Given the description of an element on the screen output the (x, y) to click on. 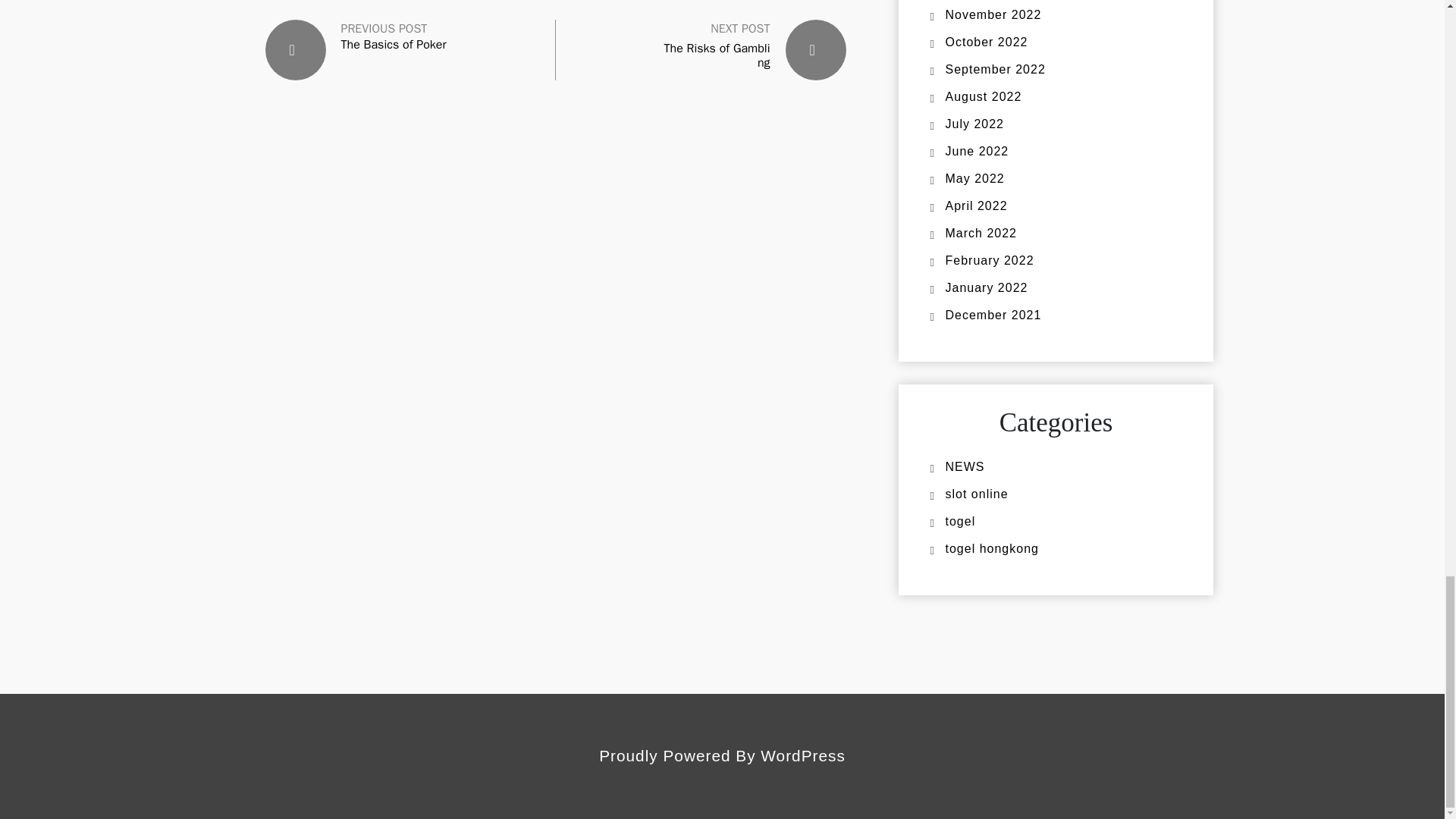
The Risks of Gambling (716, 55)
NEXT POST (740, 28)
PREVIOUS POST (384, 28)
The Basics of Poker (393, 44)
